Given the description of an element on the screen output the (x, y) to click on. 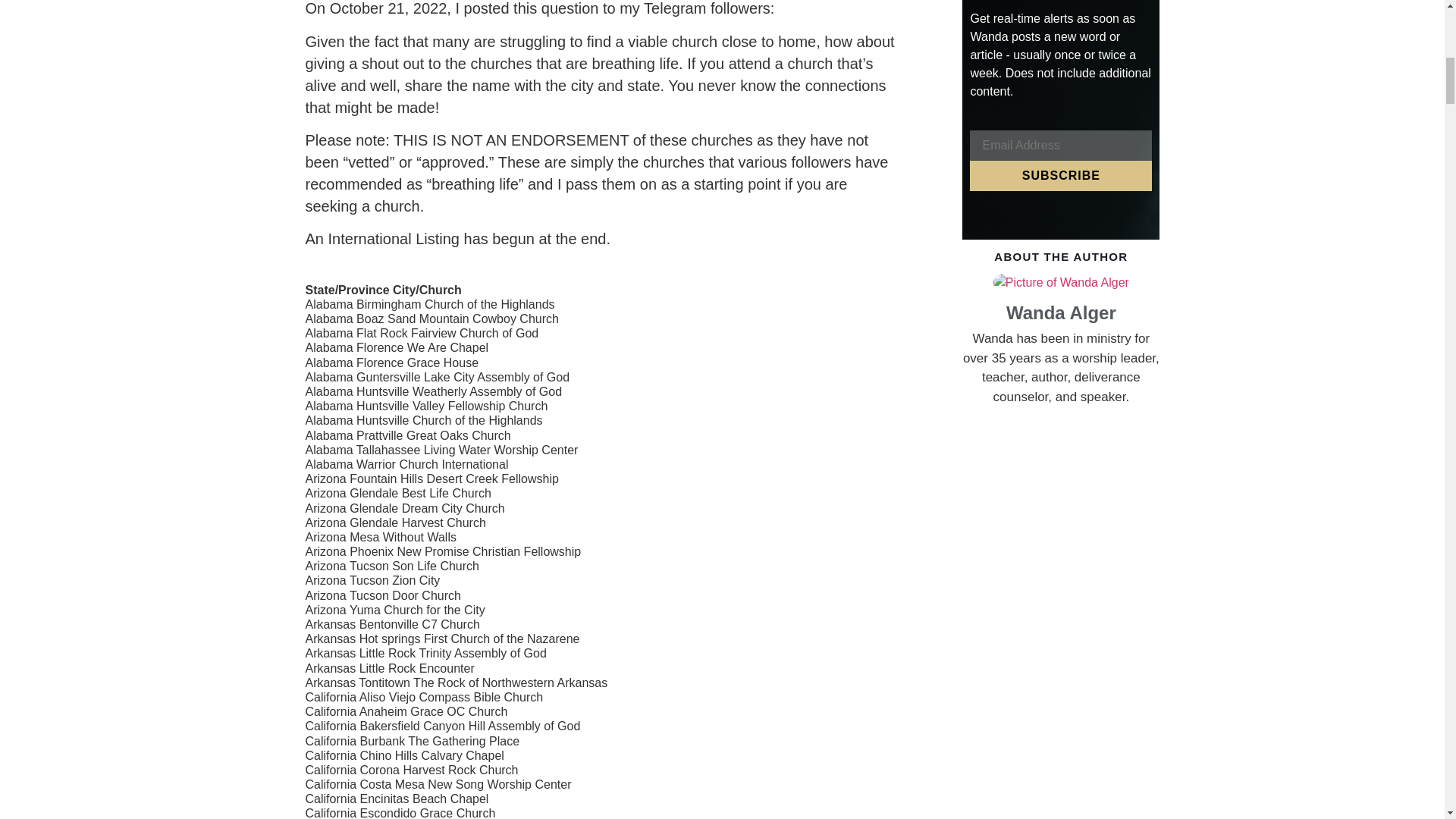
Subscribe (1060, 175)
Wanda Alger (1060, 313)
Subscribe (1060, 175)
